Given the description of an element on the screen output the (x, y) to click on. 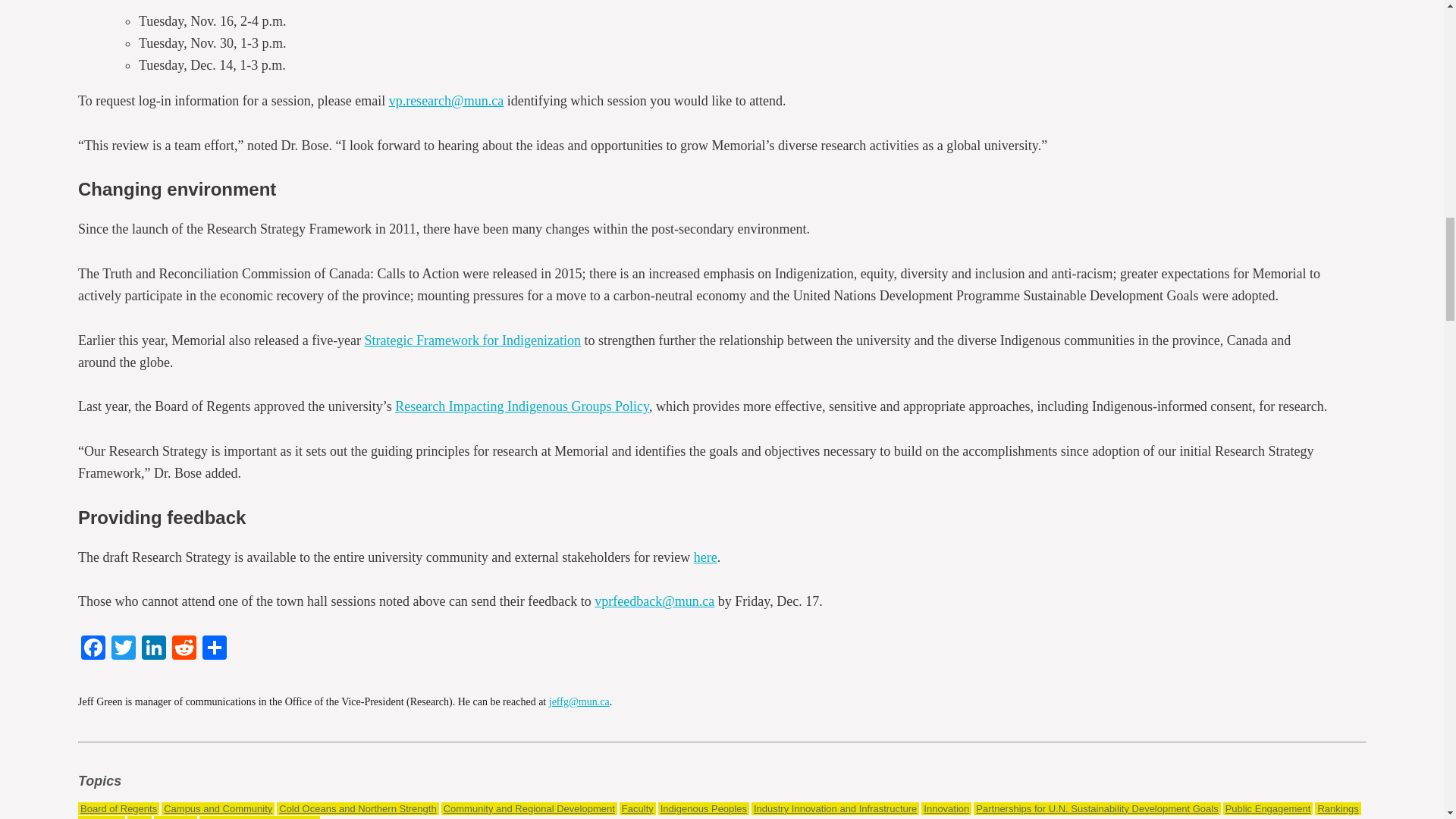
LinkedIn (153, 649)
Reddit (183, 649)
Twitter (122, 649)
Facebook (92, 649)
